Given the description of an element on the screen output the (x, y) to click on. 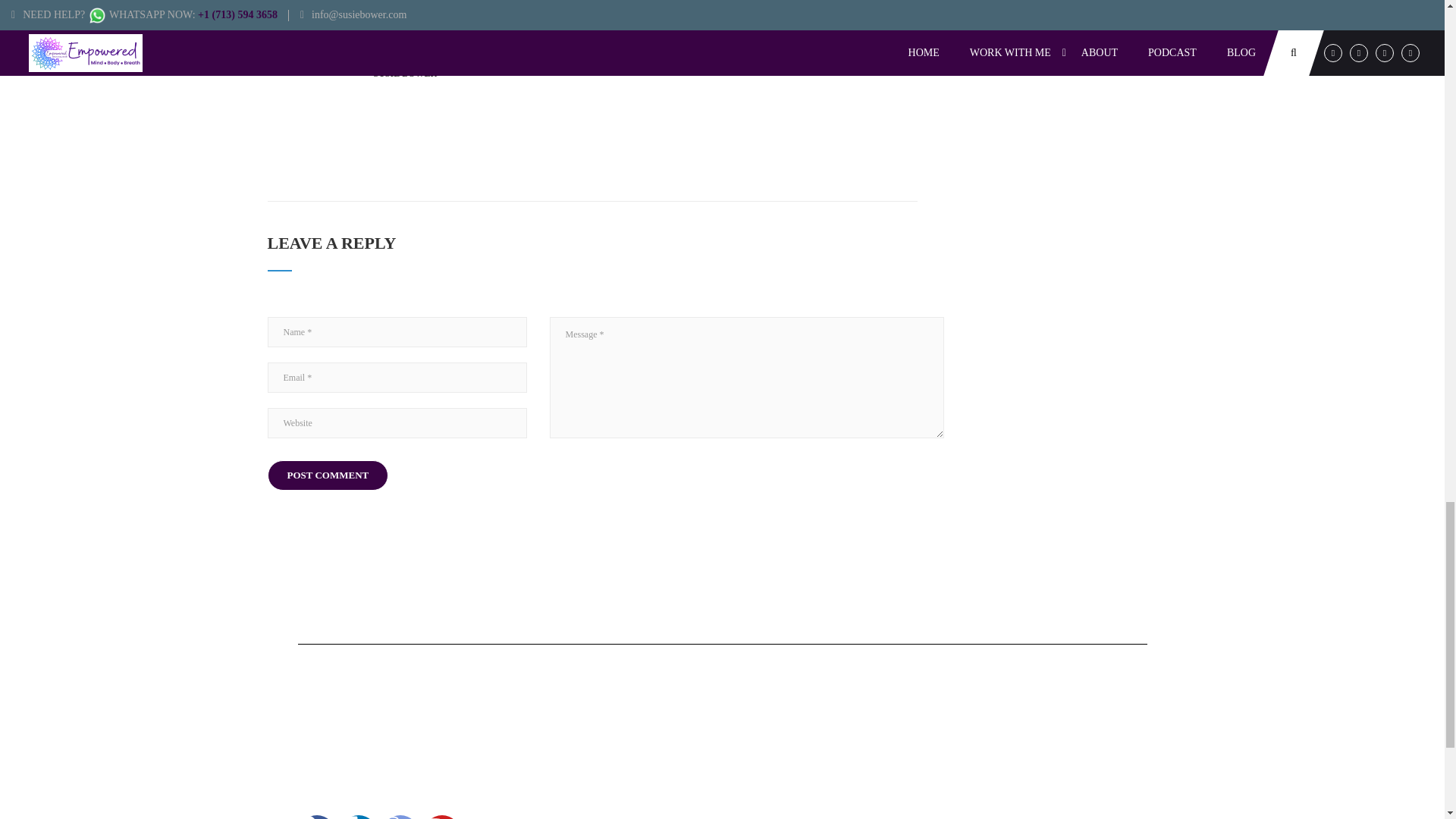
Print (593, 730)
ABMP-Logo (612, 812)
PFT (793, 730)
Post Comment (327, 474)
